Given the description of an element on the screen output the (x, y) to click on. 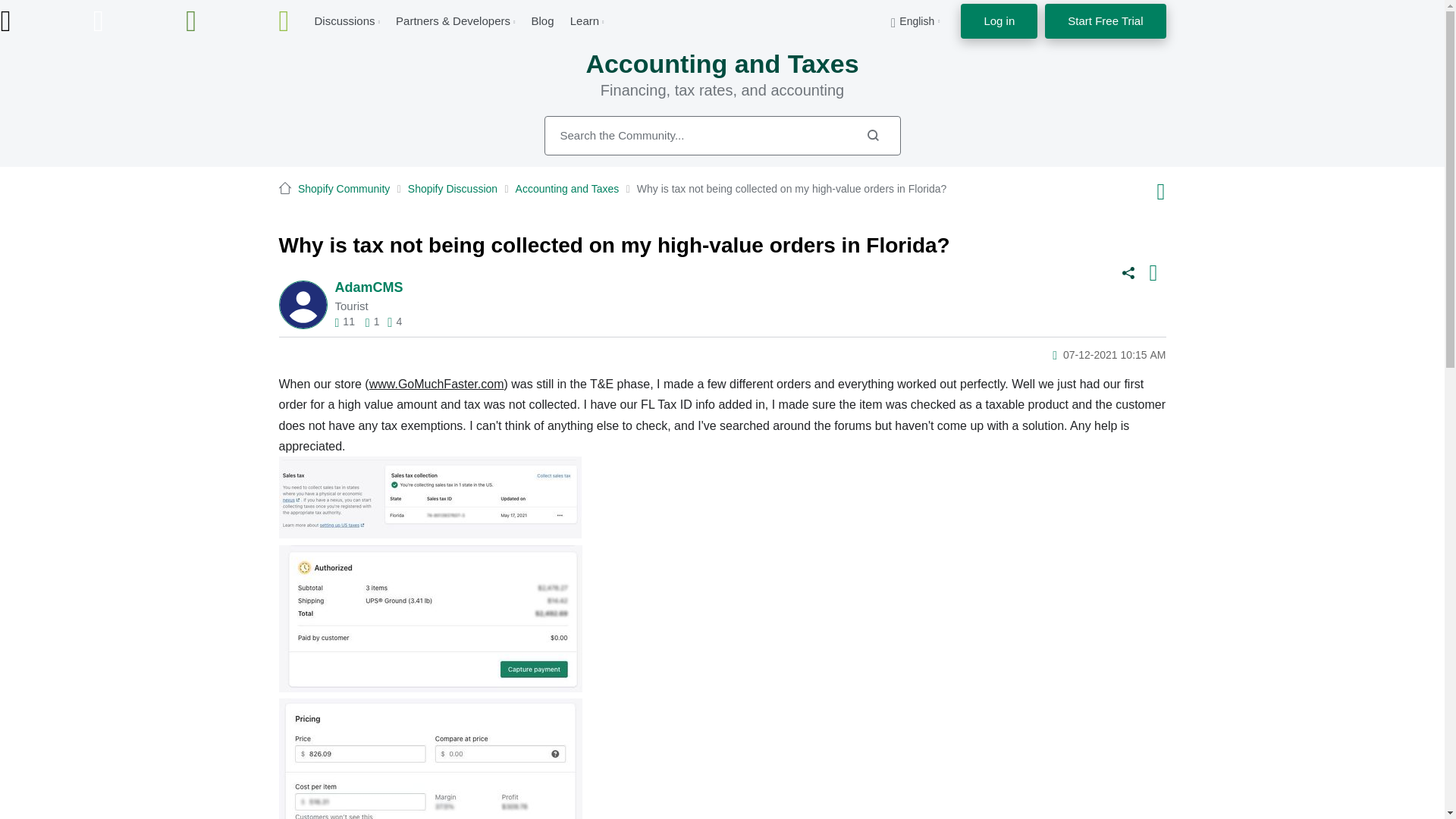
Search (872, 135)
Search (722, 135)
Search (872, 135)
Discussions (344, 20)
